Given the description of an element on the screen output the (x, y) to click on. 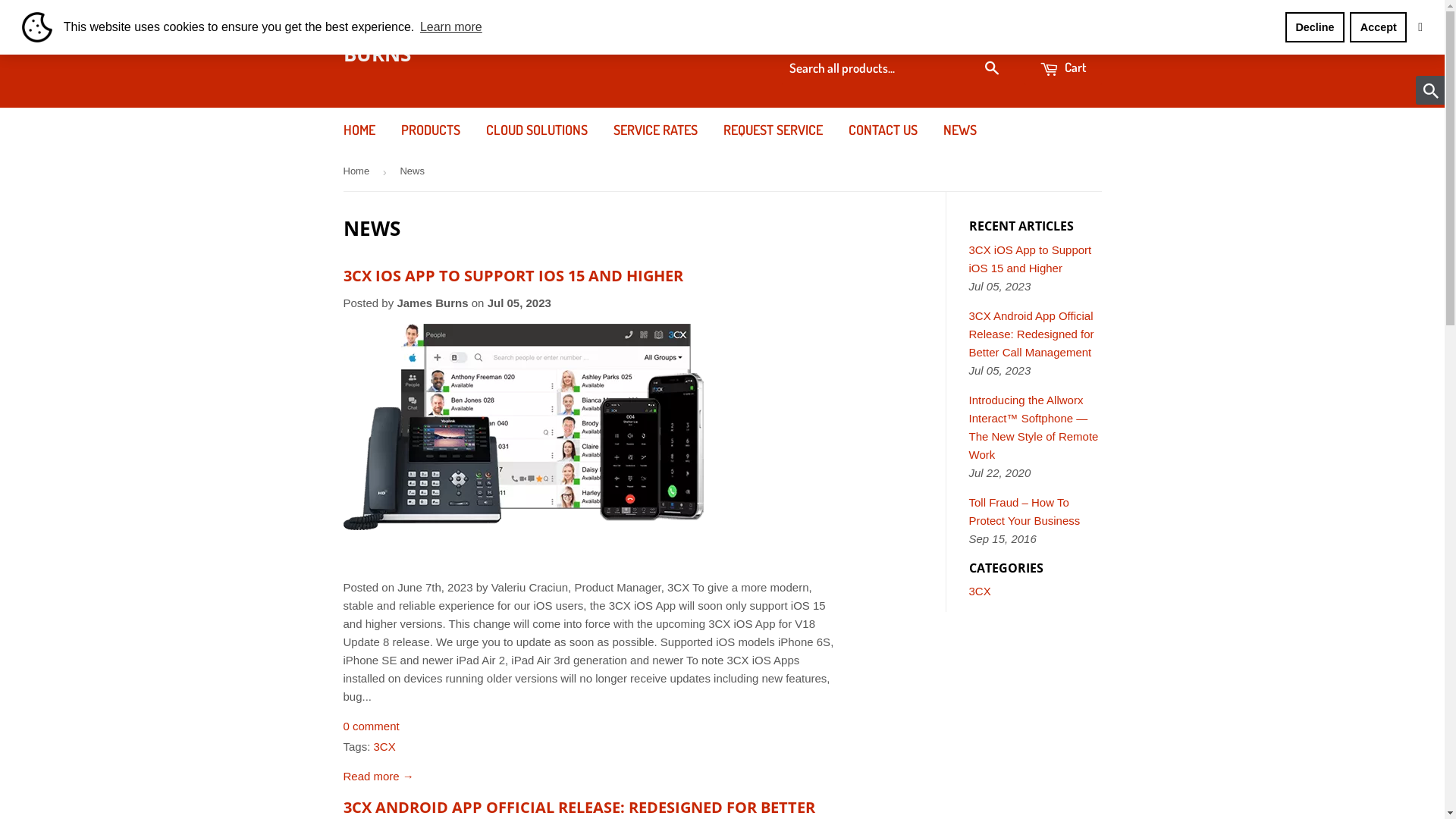
SERVICE RATES Element type: text (655, 129)
Create an Account Element type: text (1058, 31)
PRODUCTS Element type: text (430, 129)
Search Element type: text (992, 68)
CONTACT US Element type: text (882, 129)
0 comment Element type: text (370, 725)
BURNS Element type: text (458, 53)
REQUEST SERVICE Element type: text (772, 129)
Home Element type: text (358, 171)
HOME Element type: text (359, 129)
3CX Element type: text (980, 590)
CLOUD SOLUTIONS Element type: text (536, 129)
3CX Element type: text (384, 746)
Sign in Element type: text (978, 31)
Learn more Element type: text (450, 26)
Cart Element type: text (1062, 67)
3CX IOS APP TO SUPPORT IOS 15 AND HIGHER Element type: text (512, 275)
3CX iOS App to Support iOS 15 and Higher Element type: text (1030, 258)
Decline Element type: text (1314, 27)
NEWS Element type: text (959, 129)
Accept Element type: text (1377, 27)
